Given the description of an element on the screen output the (x, y) to click on. 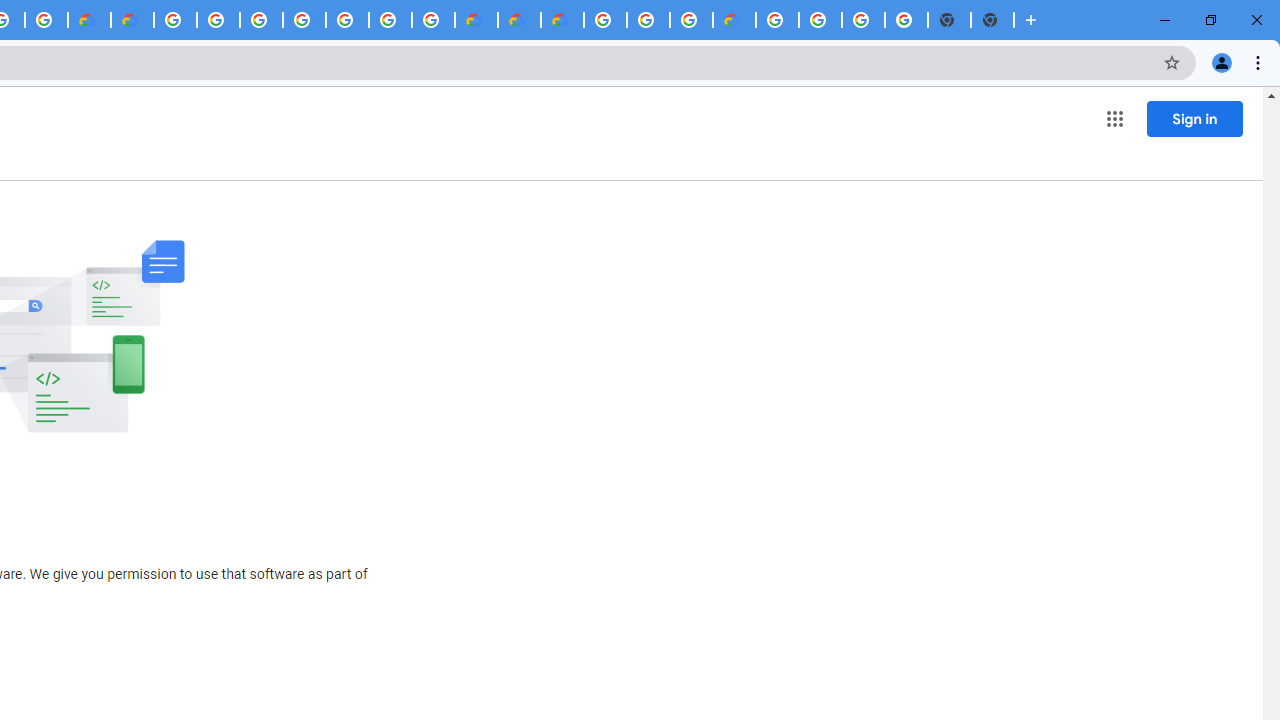
New Tab (992, 20)
Google Cloud Platform (175, 20)
Google Workspace - Specific Terms (45, 20)
Google Cloud Platform (820, 20)
Google Cloud Estimate Summary (562, 20)
Google Cloud Platform (605, 20)
